Given the description of an element on the screen output the (x, y) to click on. 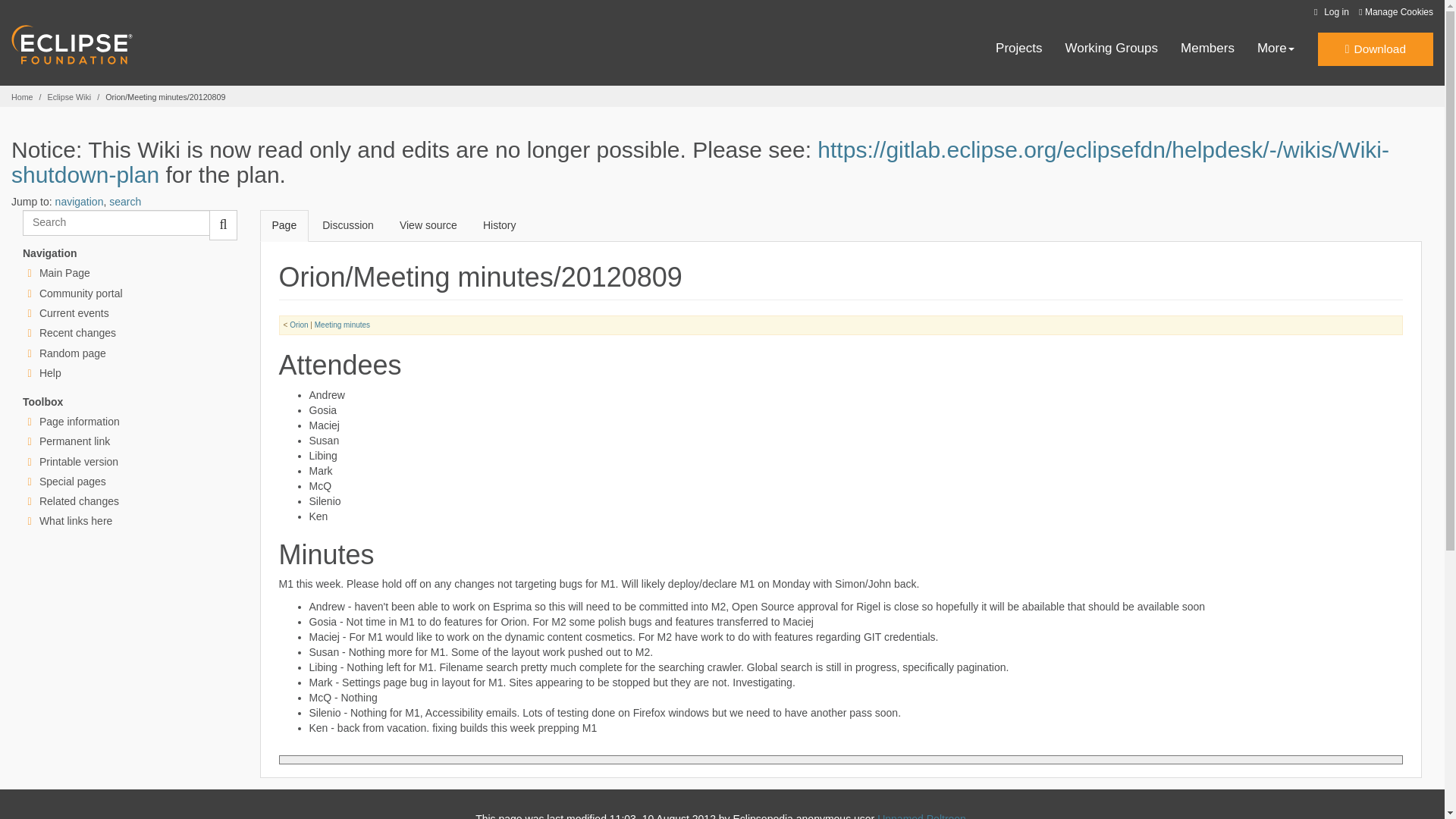
More information about this page (79, 421)
Permanent link to this revision of the page (74, 440)
Find background information on current events (74, 313)
The place to find out (50, 372)
Search the pages for this text (222, 224)
Special:Search (116, 222)
Working Groups (1111, 48)
Manage Cookies (1395, 12)
Download (1374, 49)
Projects (1018, 48)
More (1275, 48)
About the project, what you can do, where to find things (80, 293)
Members (1207, 48)
Log in (1328, 12)
